Given the description of an element on the screen output the (x, y) to click on. 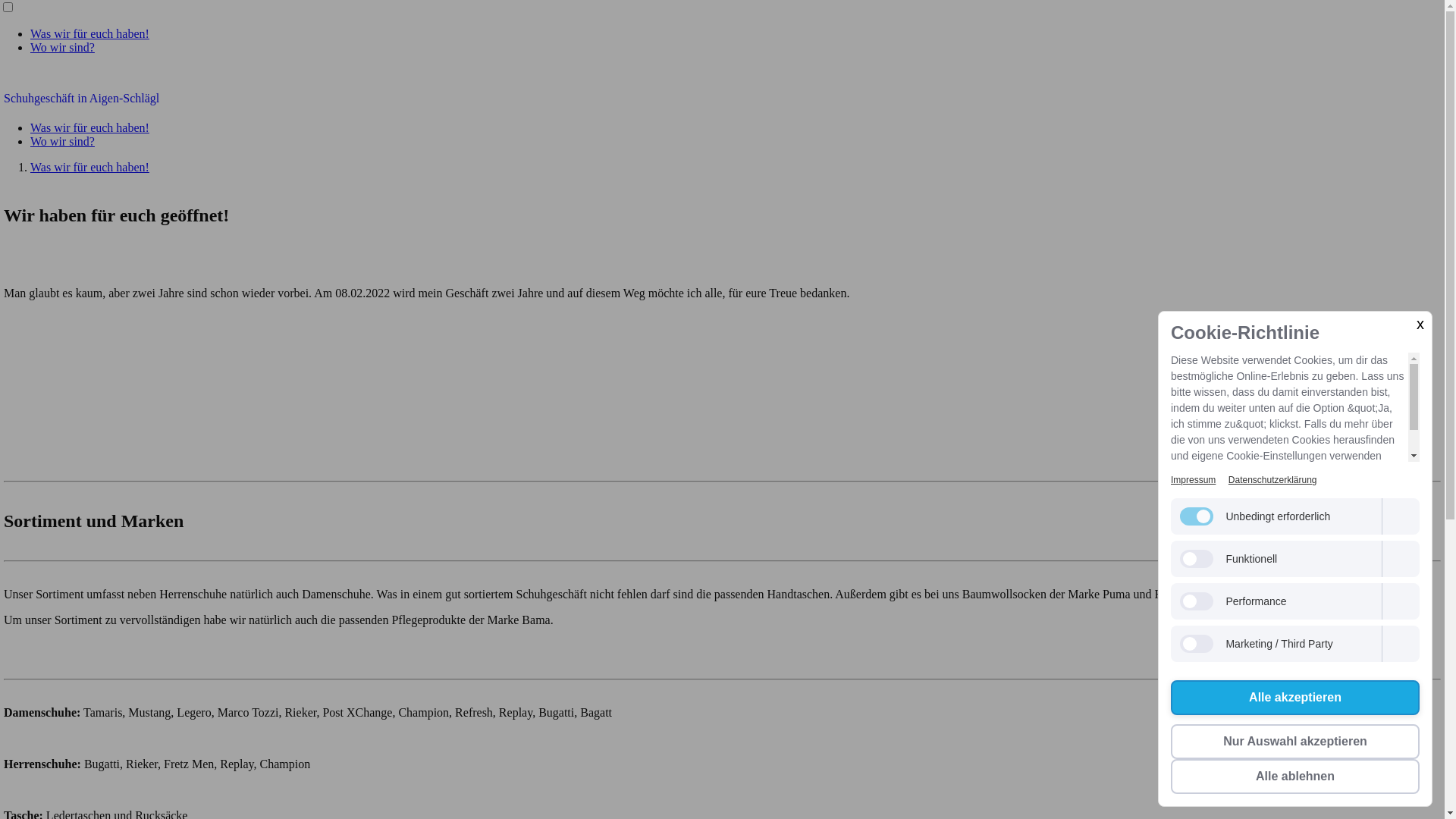
Impressum Element type: text (1192, 479)
Wo wir sind? Element type: text (62, 140)
Alle ablehnen Element type: text (1294, 776)
Wo wir sind? Element type: text (62, 46)
Alle akzeptieren Element type: text (1294, 697)
Nur Auswahl akzeptieren Element type: text (1294, 741)
